Given the description of an element on the screen output the (x, y) to click on. 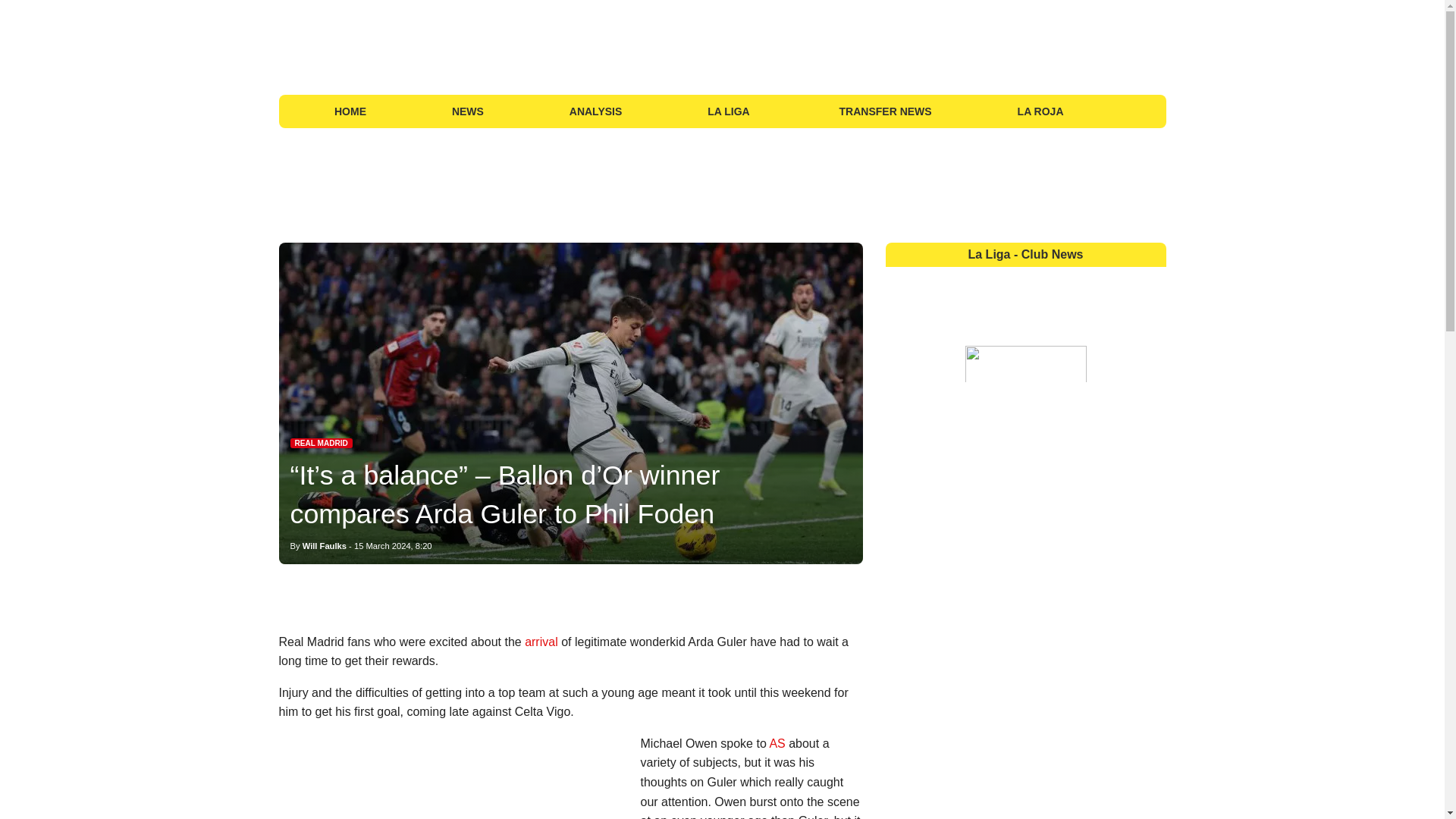
HOME (350, 111)
NEWS (468, 111)
ANALYSIS (595, 111)
TRANSFER NEWS (885, 111)
LA LIGA (729, 111)
La Liga Fixtures (1125, 111)
Search (1147, 111)
Latest Real Madrid News (320, 442)
LA ROJA (1040, 111)
